Given the description of an element on the screen output the (x, y) to click on. 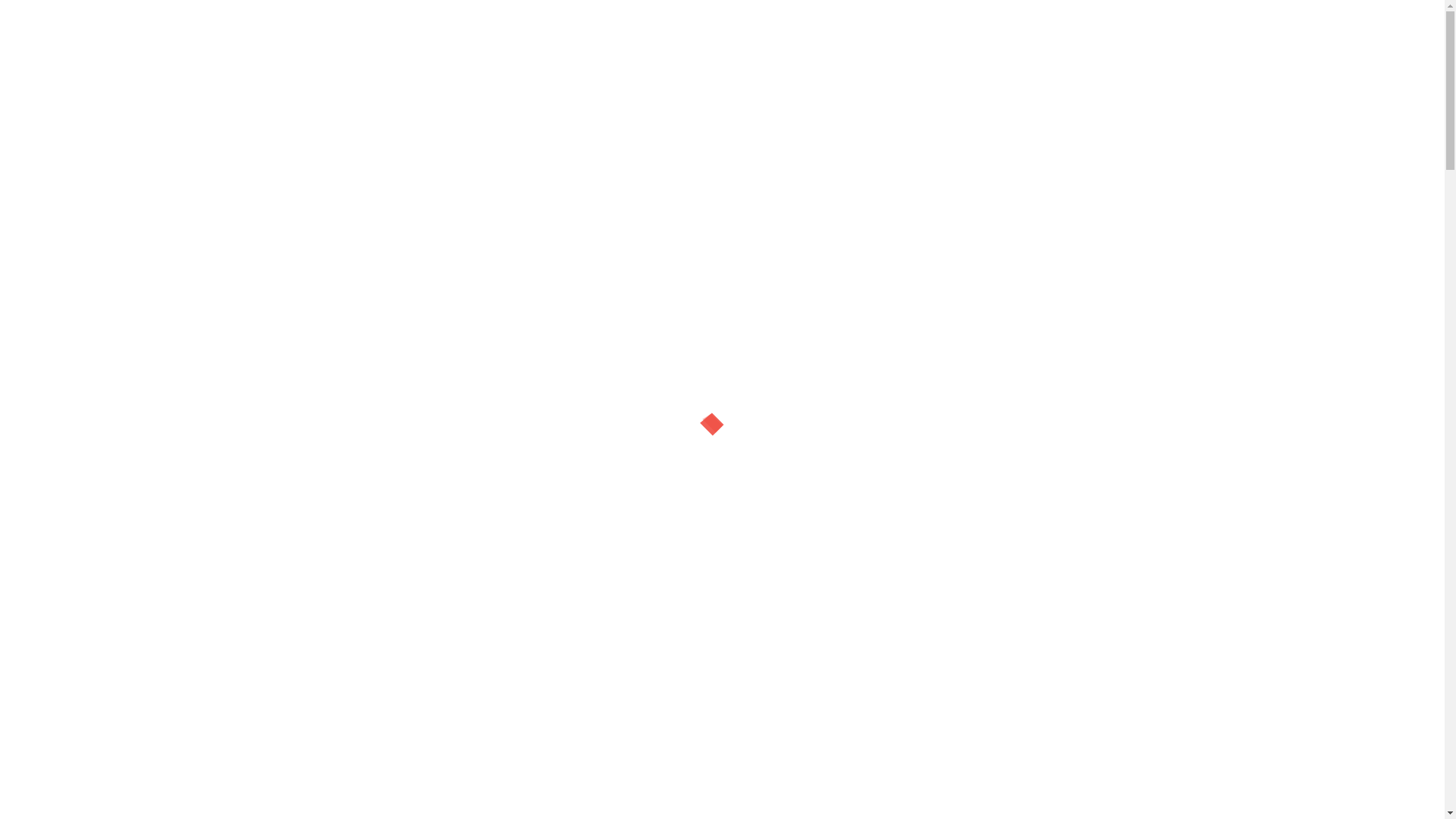
STROPOVI Element type: text (291, 372)
00 387 37 352 - 209 Element type: text (1077, 70)
KONTAKT Element type: text (623, 125)
RSM Element type: text (291, 337)
search Element type: text (896, 67)
PROIZVODI Element type: text (533, 125)
PODNE I ZIDNE OBLOGE Element type: text (291, 164)
DEKORATIVNI PROGRAM Element type: text (291, 199)
ECLISSE KLIZNA VRATA Element type: text (291, 406)
BOJE I FASADE Element type: text (291, 233)
Tapete Element type: text (1147, 124)
O NAMA Element type: text (701, 125)
SANITARNE PREGRADE Element type: text (291, 302)
O nama Element type: text (208, 14)
KUPATILA I WELLNES Element type: text (291, 268)
Laminati Element type: text (1229, 124)
Kontakt Element type: text (279, 14)
info@asinterijer.ba Element type: text (1071, 14)
